Given the description of an element on the screen output the (x, y) to click on. 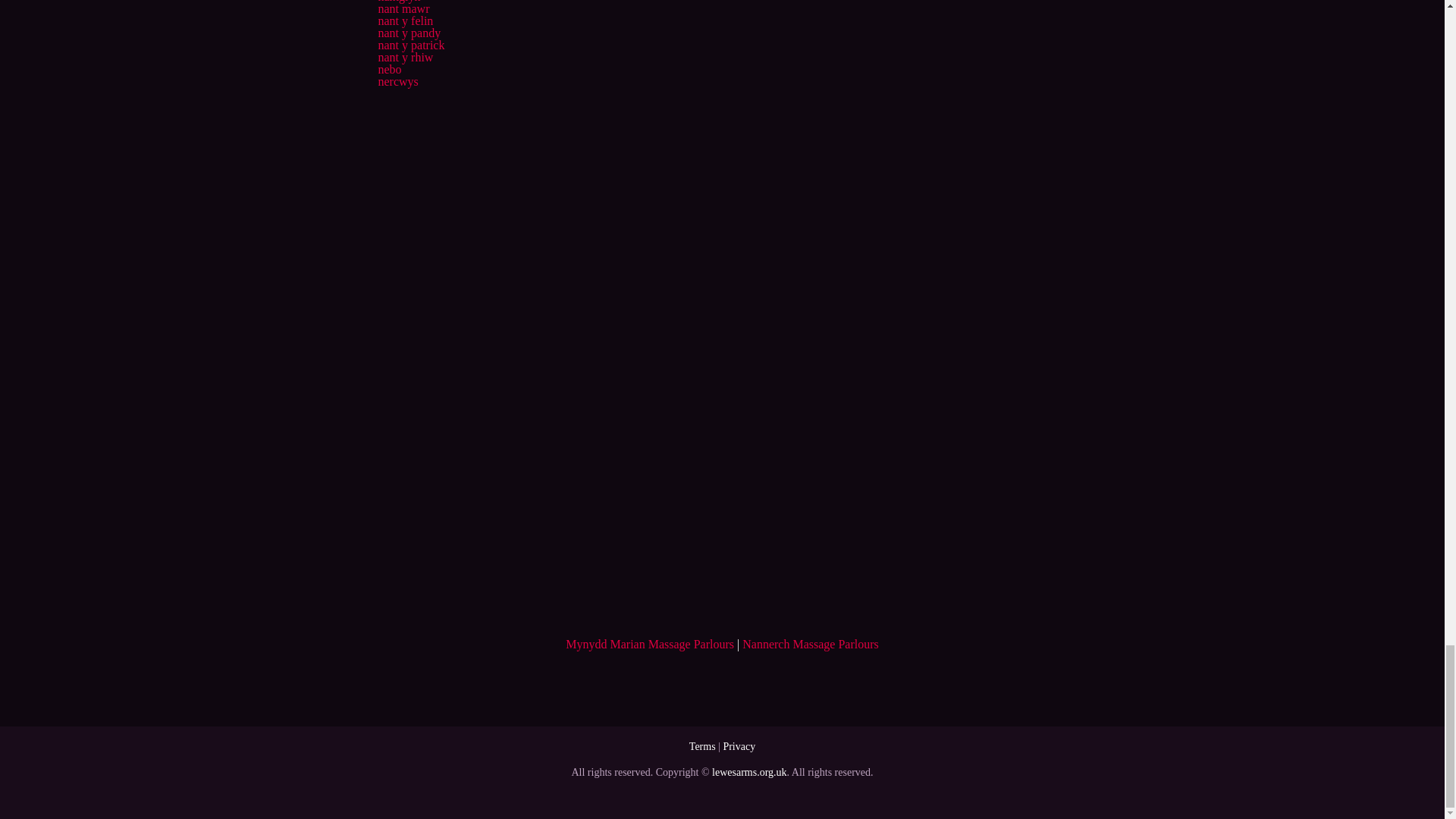
Privacy (738, 746)
nant y felin (404, 20)
Privacy (738, 746)
nant y pandy (409, 32)
nebo (389, 69)
nantglyn (398, 1)
lewesarms.org.uk (749, 772)
Terms (702, 746)
Terms (702, 746)
nercwys (397, 81)
Nannerch Massage Parlours (810, 644)
nant mawr (403, 8)
nant y rhiw (404, 56)
nant y patrick (410, 44)
Mynydd Marian Massage Parlours (649, 644)
